Given the description of an element on the screen output the (x, y) to click on. 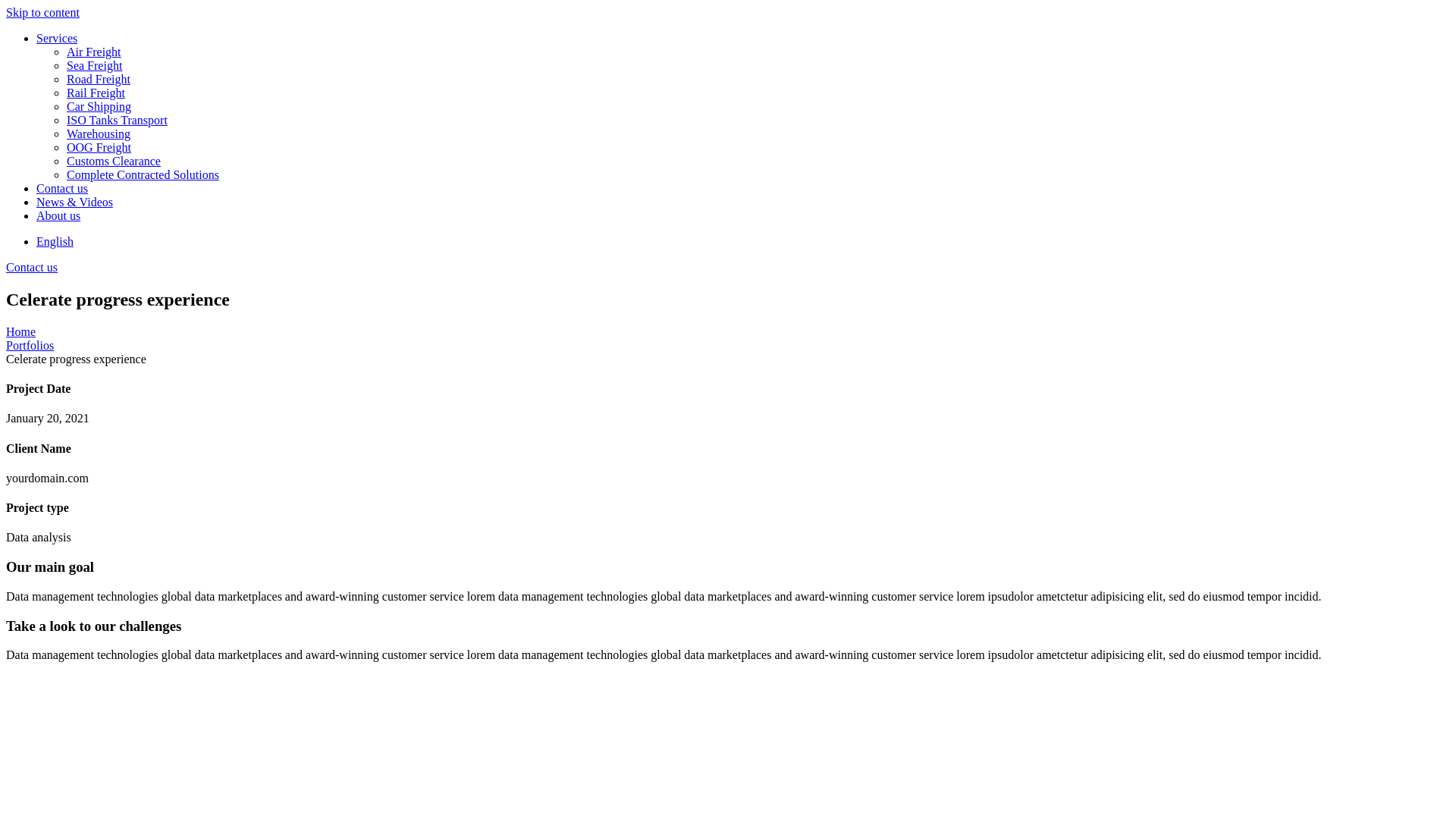
ISO Tanks Transport Element type: text (757, 120)
Warehousing Element type: text (757, 134)
About us Element type: text (742, 215)
English Element type: text (54, 241)
Sea Freight Element type: text (757, 65)
Air Freight Element type: text (757, 52)
Complete Contracted Solutions Element type: text (757, 175)
OOG Freight Element type: text (757, 147)
Road Freight Element type: text (757, 79)
Contact us Element type: text (31, 266)
News & Videos Element type: text (742, 202)
Home Element type: text (20, 331)
Skip to content Element type: text (42, 12)
Contact us Element type: text (742, 188)
Customs Clearance Element type: text (757, 161)
Portfolios Element type: text (29, 344)
Services Element type: text (742, 38)
Rail Freight Element type: text (757, 93)
Car Shipping Element type: text (757, 106)
